Given the description of an element on the screen output the (x, y) to click on. 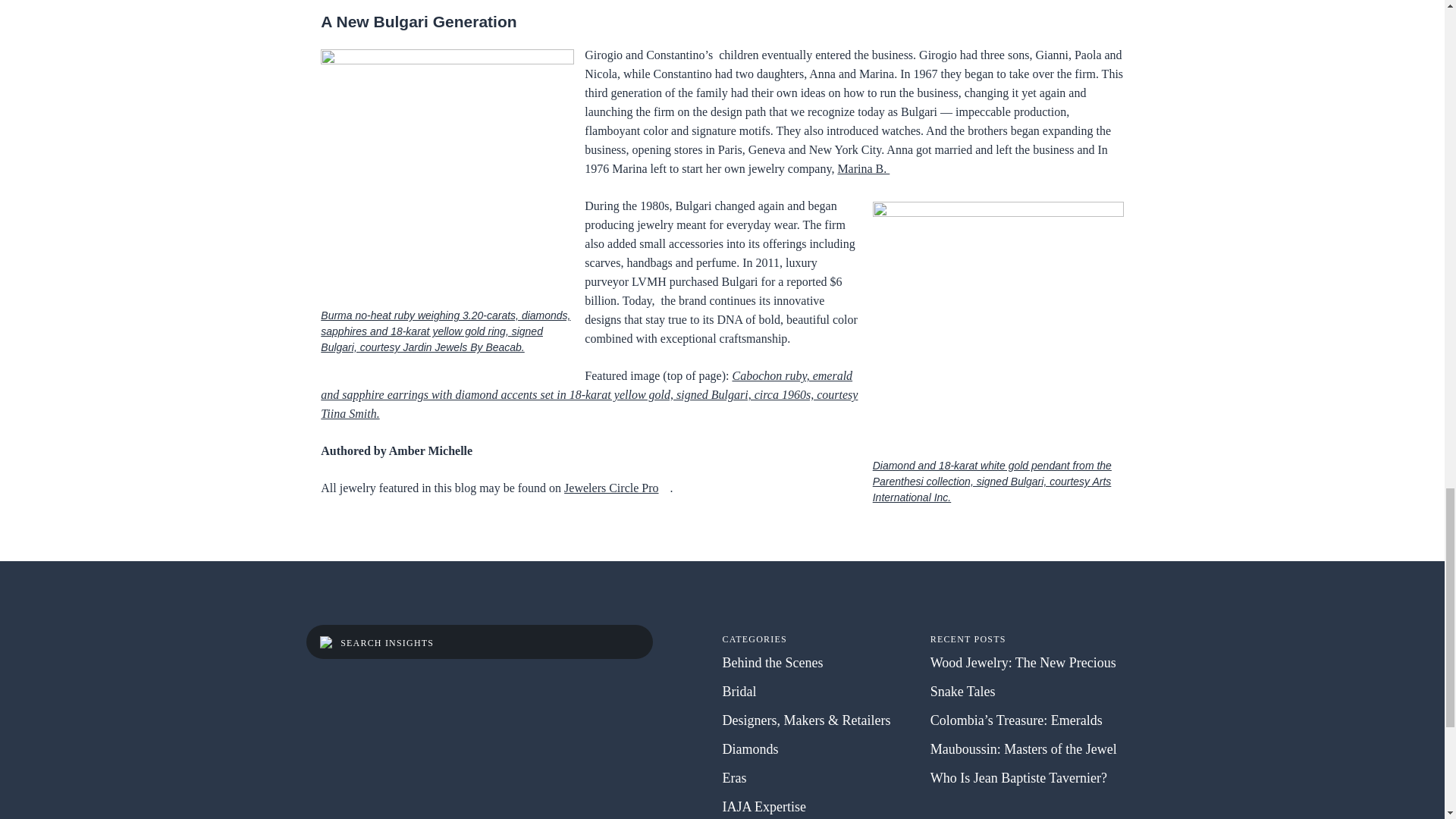
IAJA Expertise (763, 806)
Mauboussin: Masters of the Jewel (1023, 749)
Behind the Scenes (772, 662)
Marina B. (863, 168)
Diamonds (749, 749)
Wood Jewelry: The New Precious (1023, 662)
Eras (733, 777)
Bridal (738, 691)
